Given the description of an element on the screen output the (x, y) to click on. 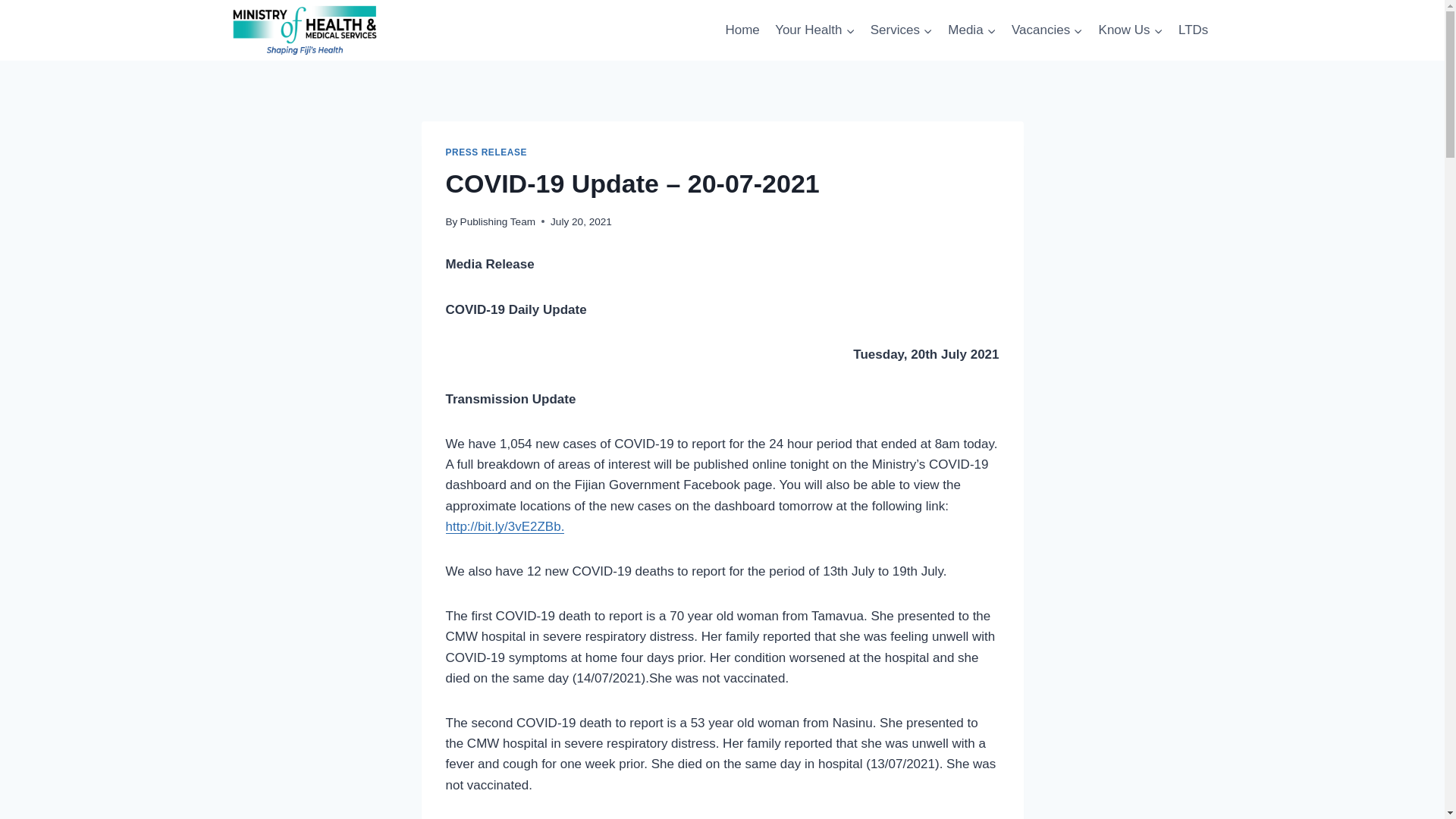
Your Health (815, 30)
Home (742, 30)
